Given the description of an element on the screen output the (x, y) to click on. 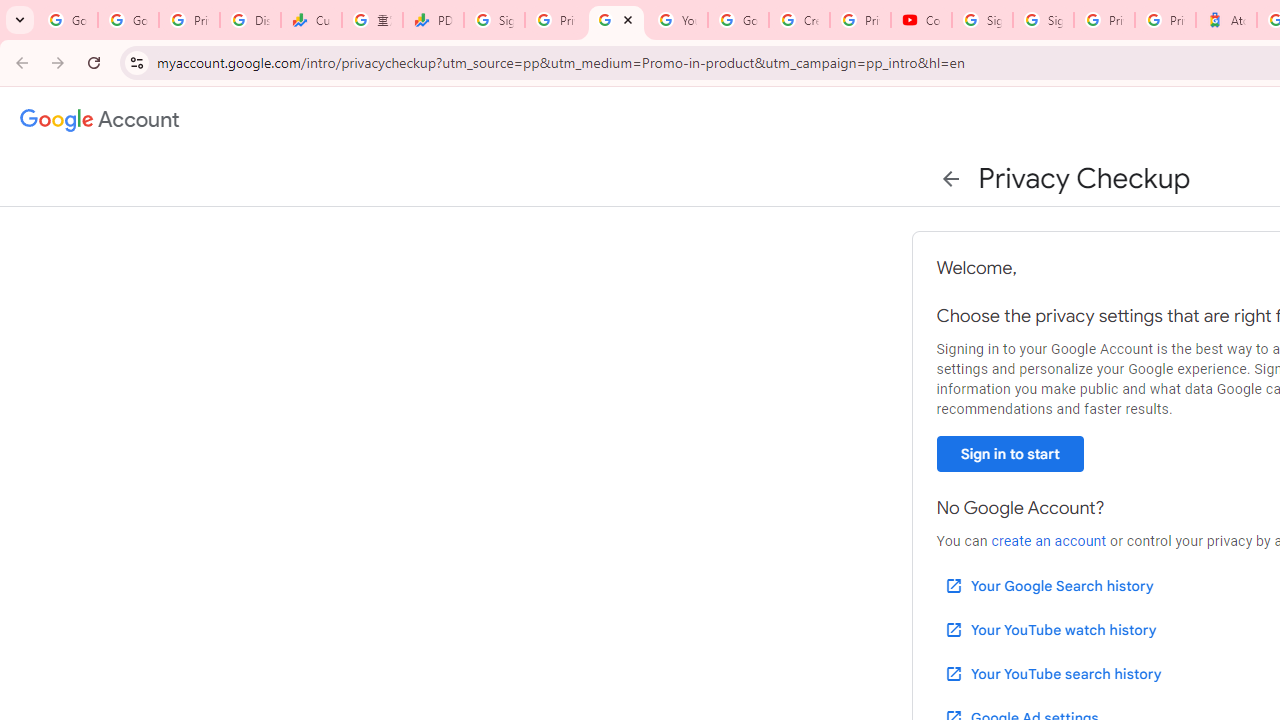
Content Creator Programs & Opportunities - YouTube Creators (921, 20)
Privacy Checkup (616, 20)
Your YouTube search history (1052, 673)
Your YouTube watch history (1049, 630)
Google Workspace Admin Community (67, 20)
Sign in - Google Accounts (982, 20)
Create your Google Account (799, 20)
PDD Holdings Inc - ADR (PDD) Price & News - Google Finance (433, 20)
Sign in - Google Accounts (493, 20)
Google Account Help (738, 20)
